Given the description of an element on the screen output the (x, y) to click on. 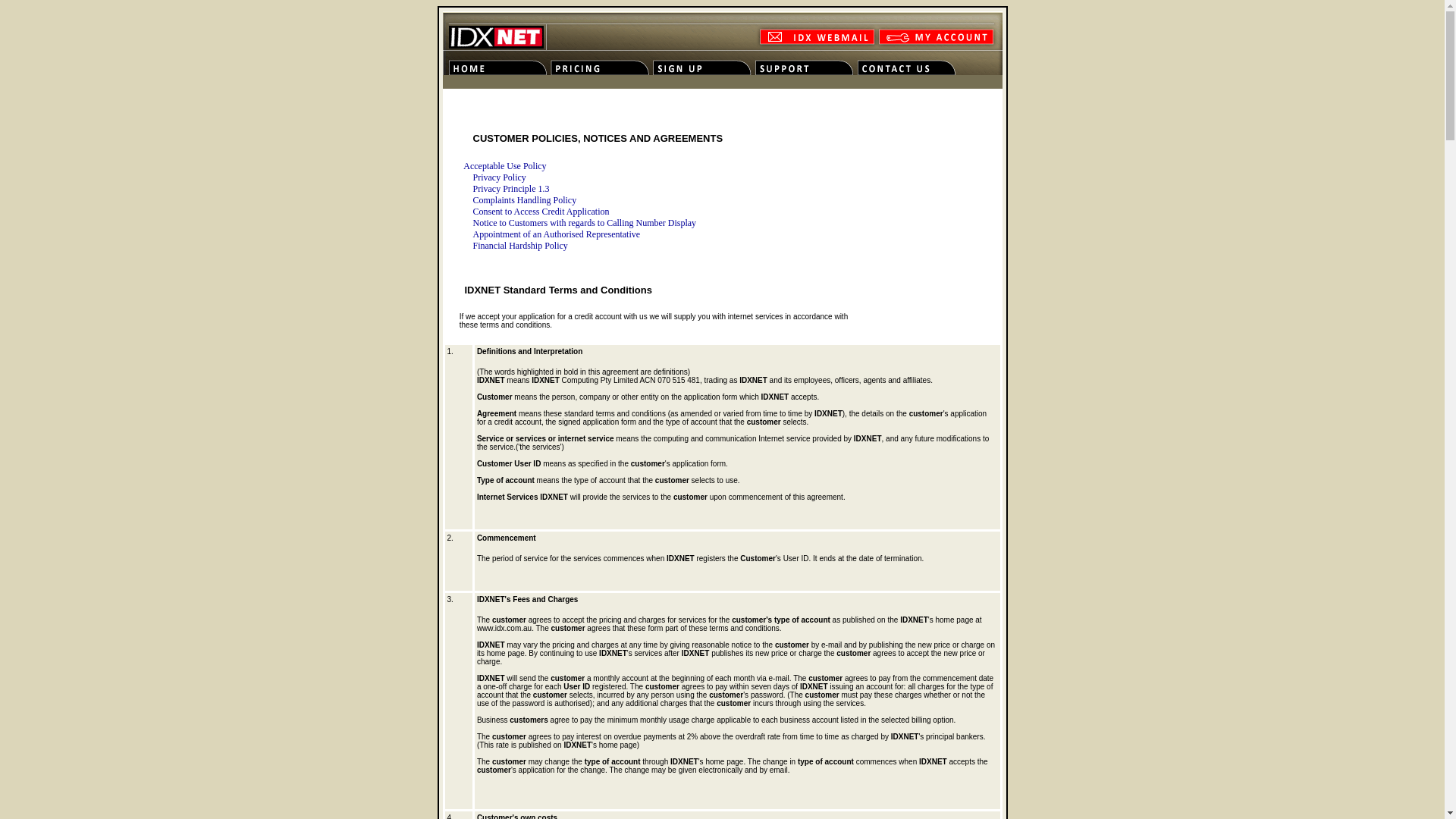
Consent to Access Credit Application Element type: text (541, 211)
Notice to Customers with regards to Calling Number Display Element type: text (584, 223)
Appointment of an Authorised Representative Element type: text (556, 234)
Privacy Principle 1.3 Element type: text (511, 189)
Complaints Handling Policy Element type: text (525, 200)
Financial Hardship Policy Element type: text (520, 245)
          Acceptable Use Policy Element type: text (494, 166)
Privacy Policy Element type: text (499, 177)
  Element type: text (443, 264)
